Given the description of an element on the screen output the (x, y) to click on. 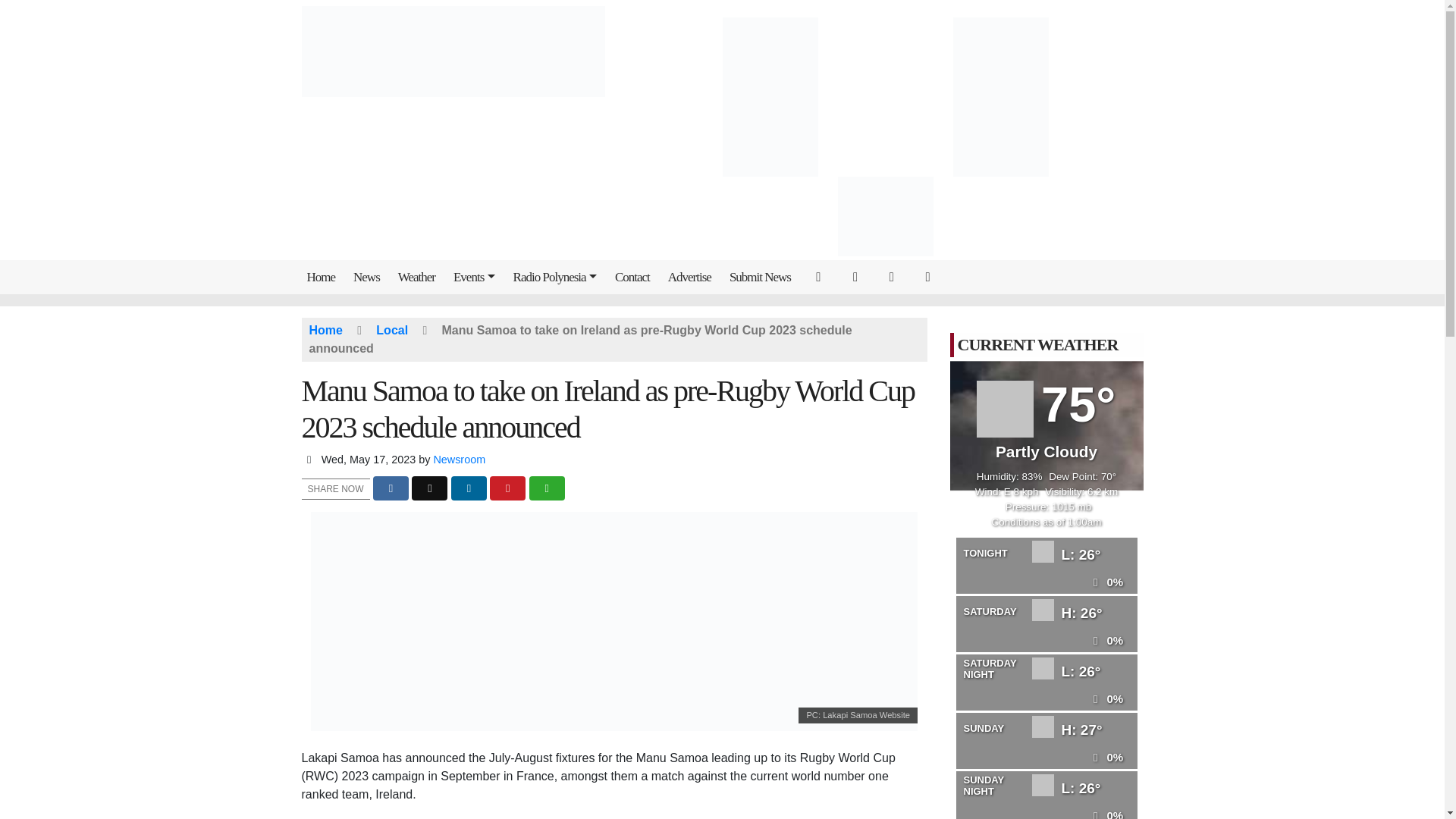
Follow us on Facebook (859, 276)
Follow us on Instagram (895, 276)
Get our Android App (930, 276)
News (369, 276)
Radio Polynesia (558, 276)
Posts by Newsroom (458, 459)
Events (477, 276)
Weather (419, 276)
Home (324, 276)
